Given the description of an element on the screen output the (x, y) to click on. 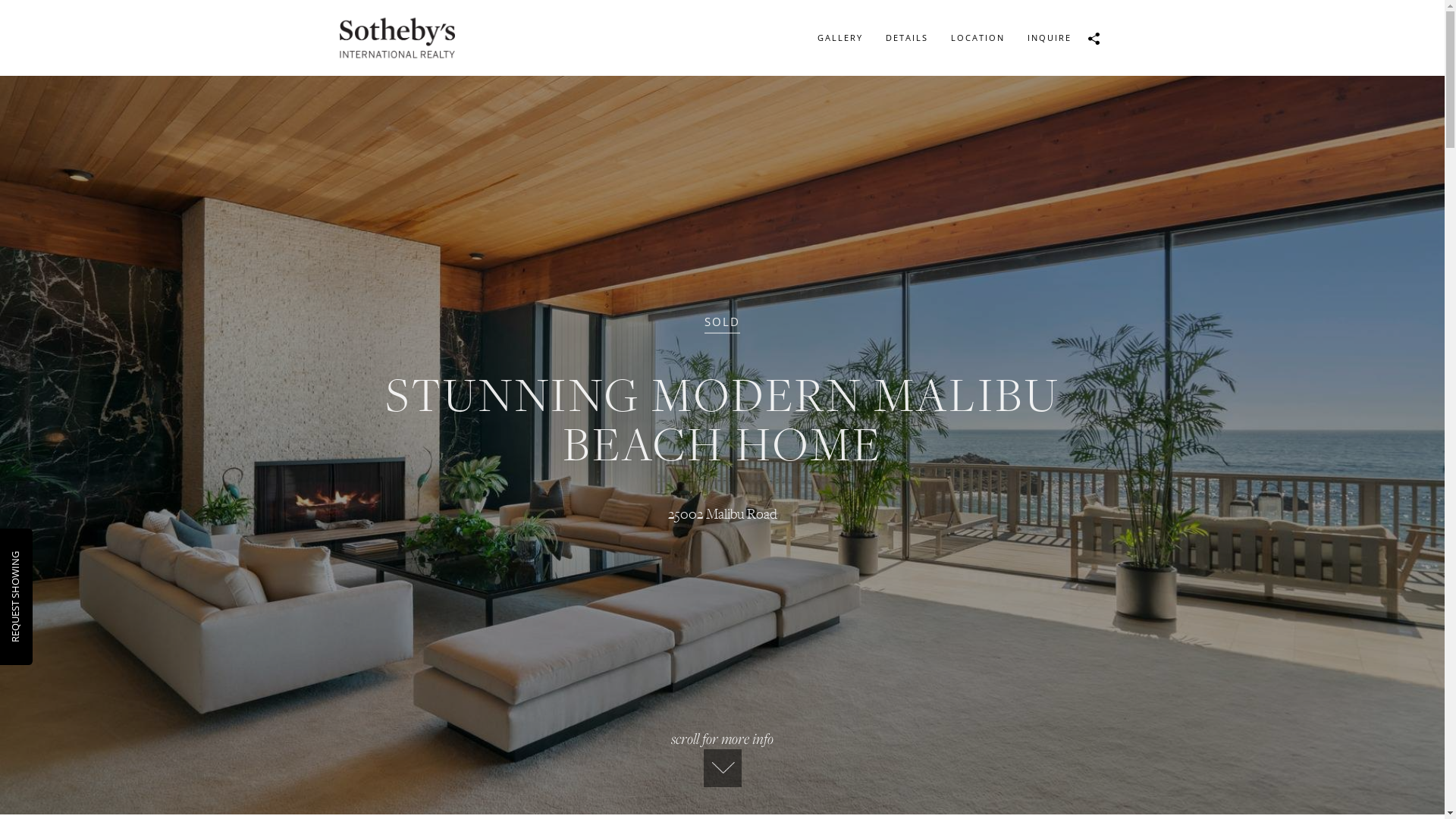
scroll for more info Element type: text (721, 757)
LOCATION Element type: text (976, 37)
REQUEST SHOWING Element type: text (53, 557)
GALLERY Element type: text (839, 37)
DETAILS Element type: text (905, 37)
INQUIRE Element type: text (1049, 37)
